Given the description of an element on the screen output the (x, y) to click on. 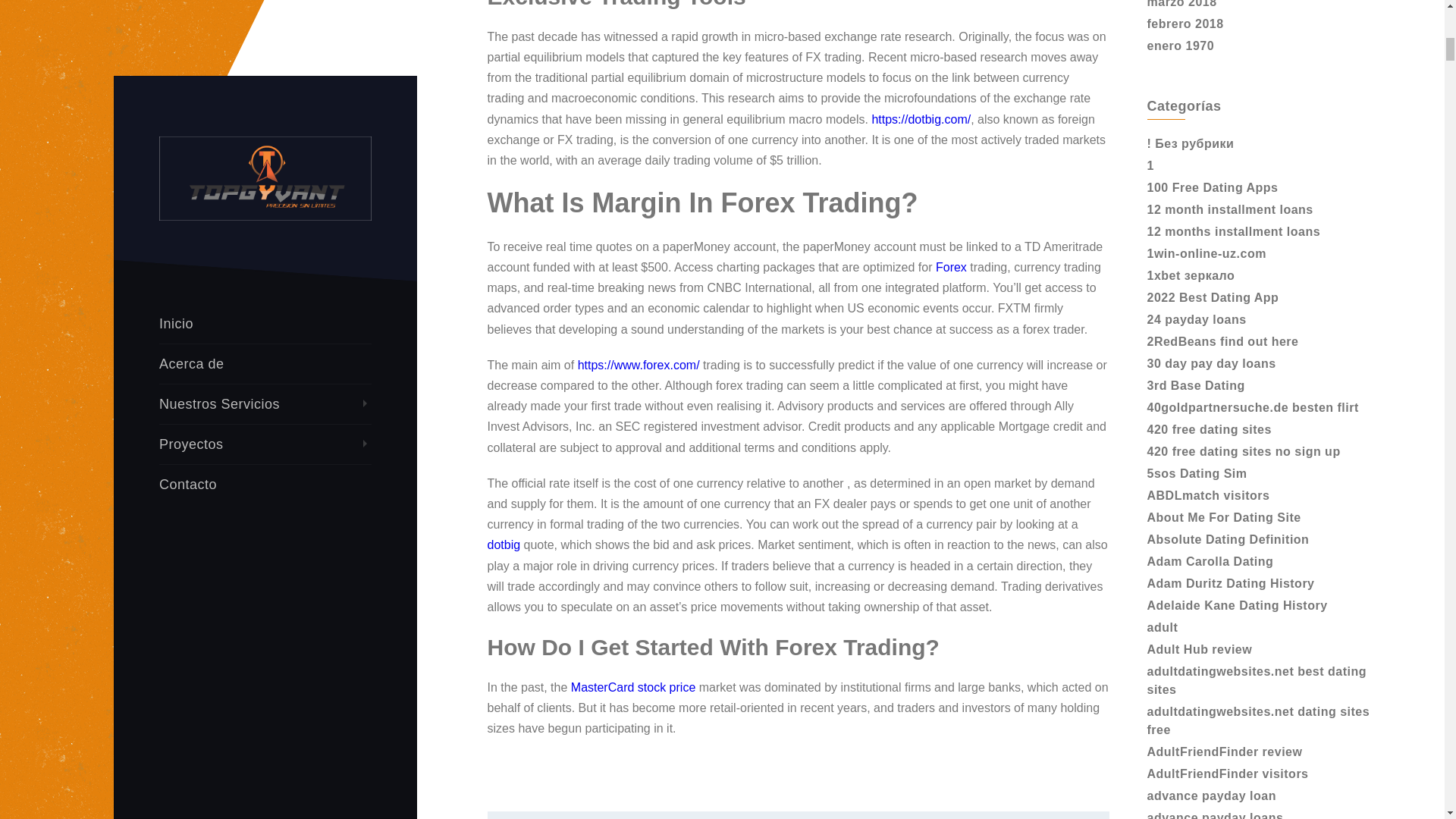
MasterCard stock price (632, 686)
Forex (951, 267)
dotbig (502, 544)
